Given the description of an element on the screen output the (x, y) to click on. 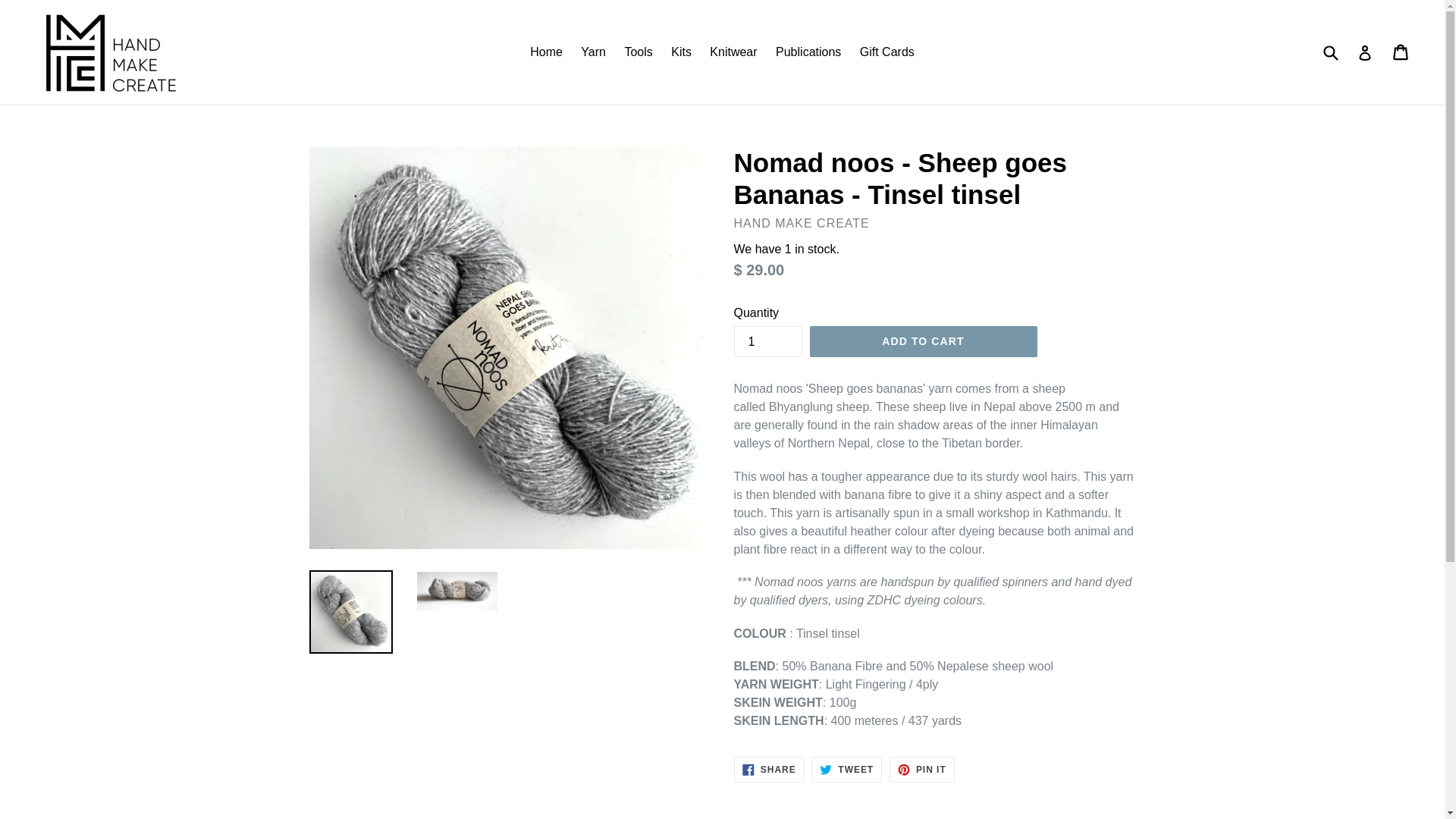
Home (546, 51)
1 (767, 341)
Gift Cards (886, 51)
Tools (637, 51)
Knitwear (732, 51)
Pin on Pinterest (922, 769)
Kits (680, 51)
Yarn (592, 51)
